Given the description of an element on the screen output the (x, y) to click on. 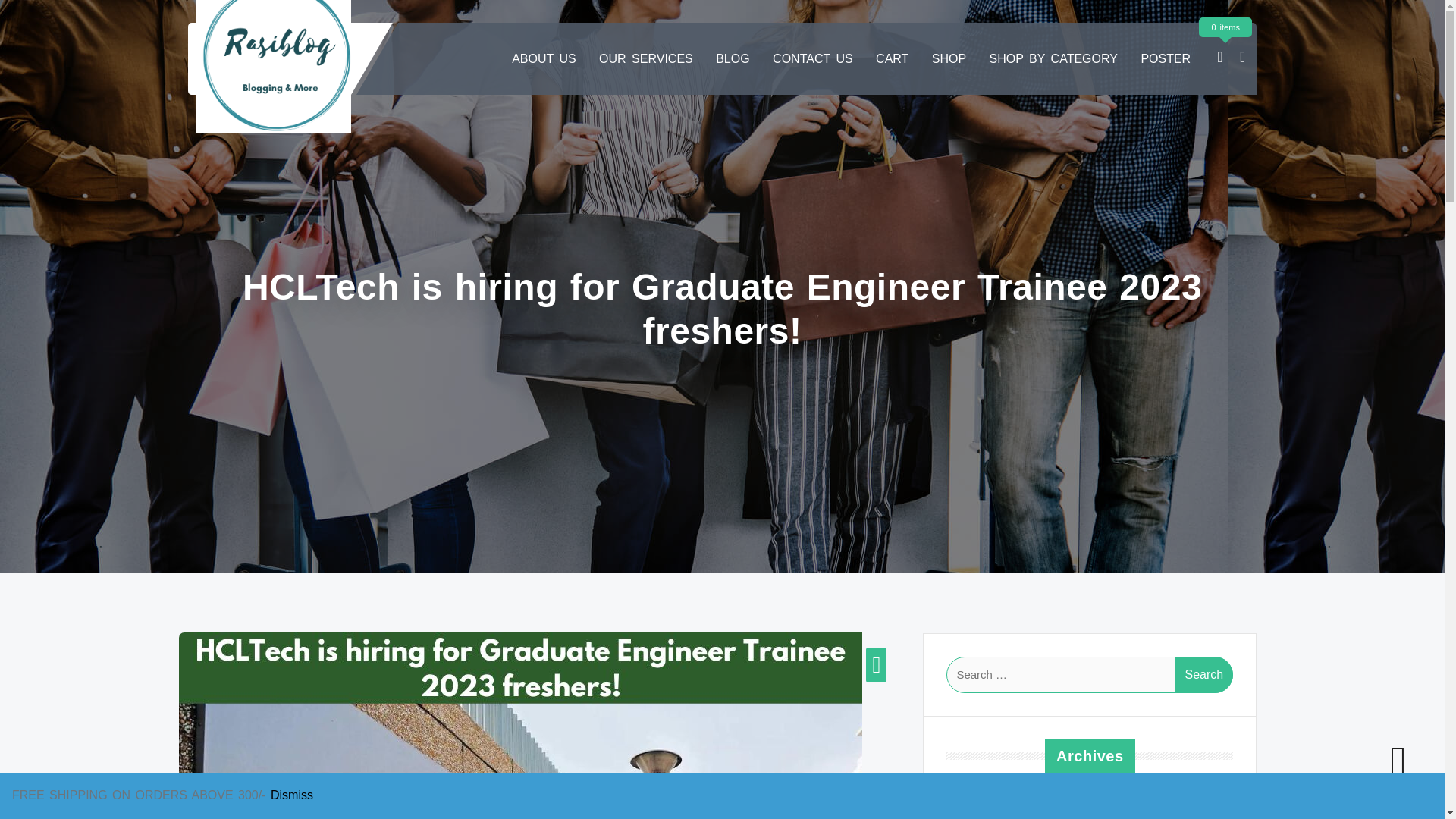
POSTER (1165, 58)
BLOG (732, 58)
View your shopping cart (1220, 57)
0 items (1220, 57)
CART (891, 58)
SHOP (949, 58)
Search (1203, 674)
OUR SERVICES (645, 58)
SHOP BY CATEGORY (1052, 58)
CONTACT US (811, 58)
ABOUT US (543, 58)
Search (1203, 674)
